Given the description of an element on the screen output the (x, y) to click on. 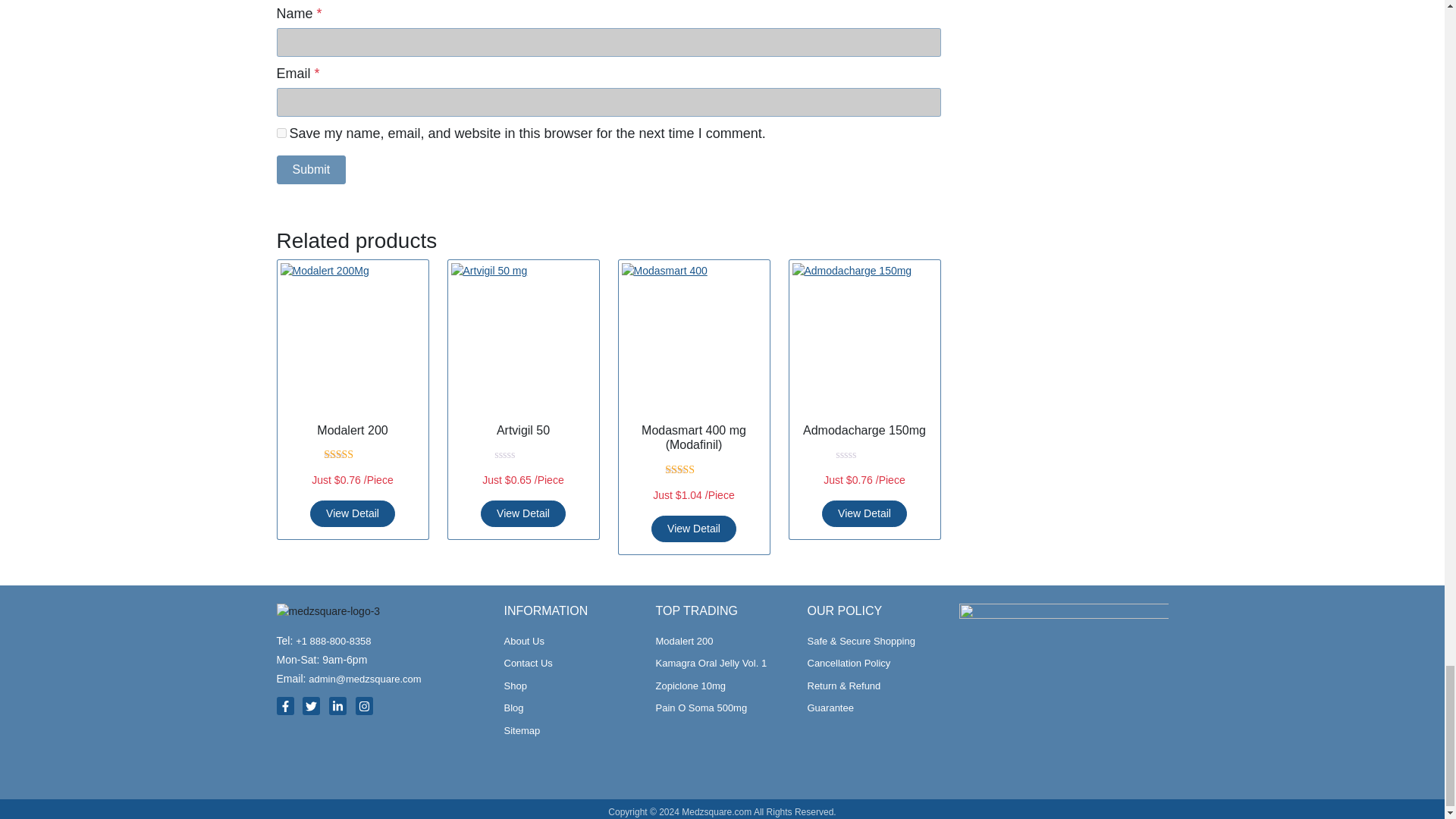
Submit (311, 184)
yes (280, 148)
